Given the description of an element on the screen output the (x, y) to click on. 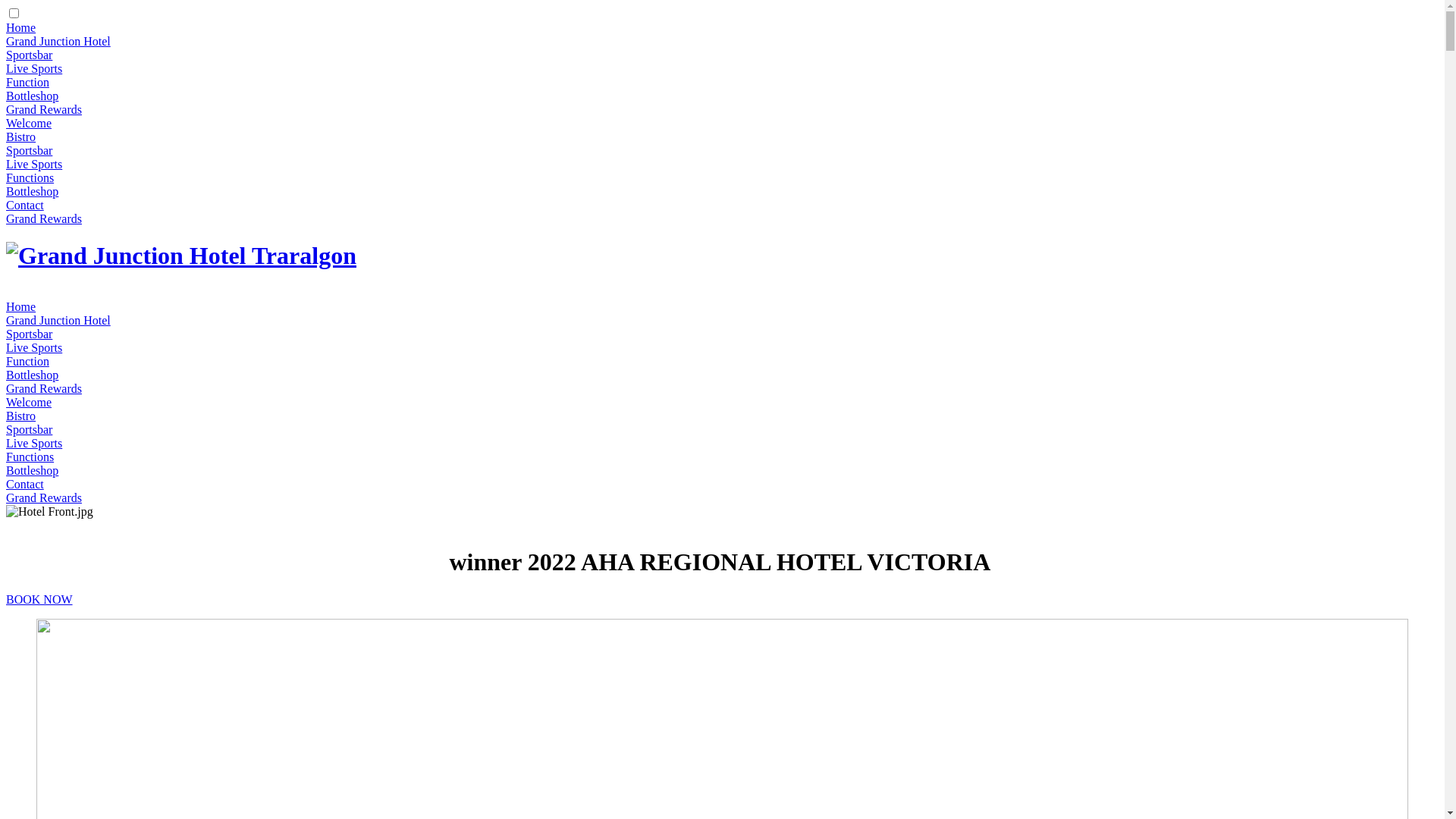
Grand Junction Hotel Element type: text (58, 319)
Home Element type: text (20, 27)
Functions Element type: text (29, 177)
Bottleshop Element type: text (32, 191)
Grand Junction Hotel Element type: text (58, 40)
Sportsbar Element type: text (29, 54)
Bottleshop Element type: text (32, 470)
Sportsbar Element type: text (29, 429)
Live Sports Element type: text (34, 442)
Grand Rewards Element type: text (43, 497)
Bottleshop Element type: text (32, 95)
Sportsbar Element type: text (29, 150)
Live Sports Element type: text (34, 163)
Bistro Element type: text (20, 136)
Bistro Element type: text (20, 415)
Live Sports Element type: text (34, 347)
Welcome Element type: text (28, 401)
Grand Rewards Element type: text (43, 218)
Function Element type: text (27, 81)
Contact Element type: text (24, 483)
Welcome Element type: text (28, 122)
Functions Element type: text (29, 456)
Grand Rewards Element type: text (43, 109)
Contact Element type: text (24, 204)
Sportsbar Element type: text (29, 333)
BOOK NOW Element type: text (39, 599)
Grand Rewards Element type: text (43, 388)
Live Sports Element type: text (34, 68)
Bottleshop Element type: text (32, 374)
Function Element type: text (27, 360)
Home Element type: text (20, 306)
